Given the description of an element on the screen output the (x, y) to click on. 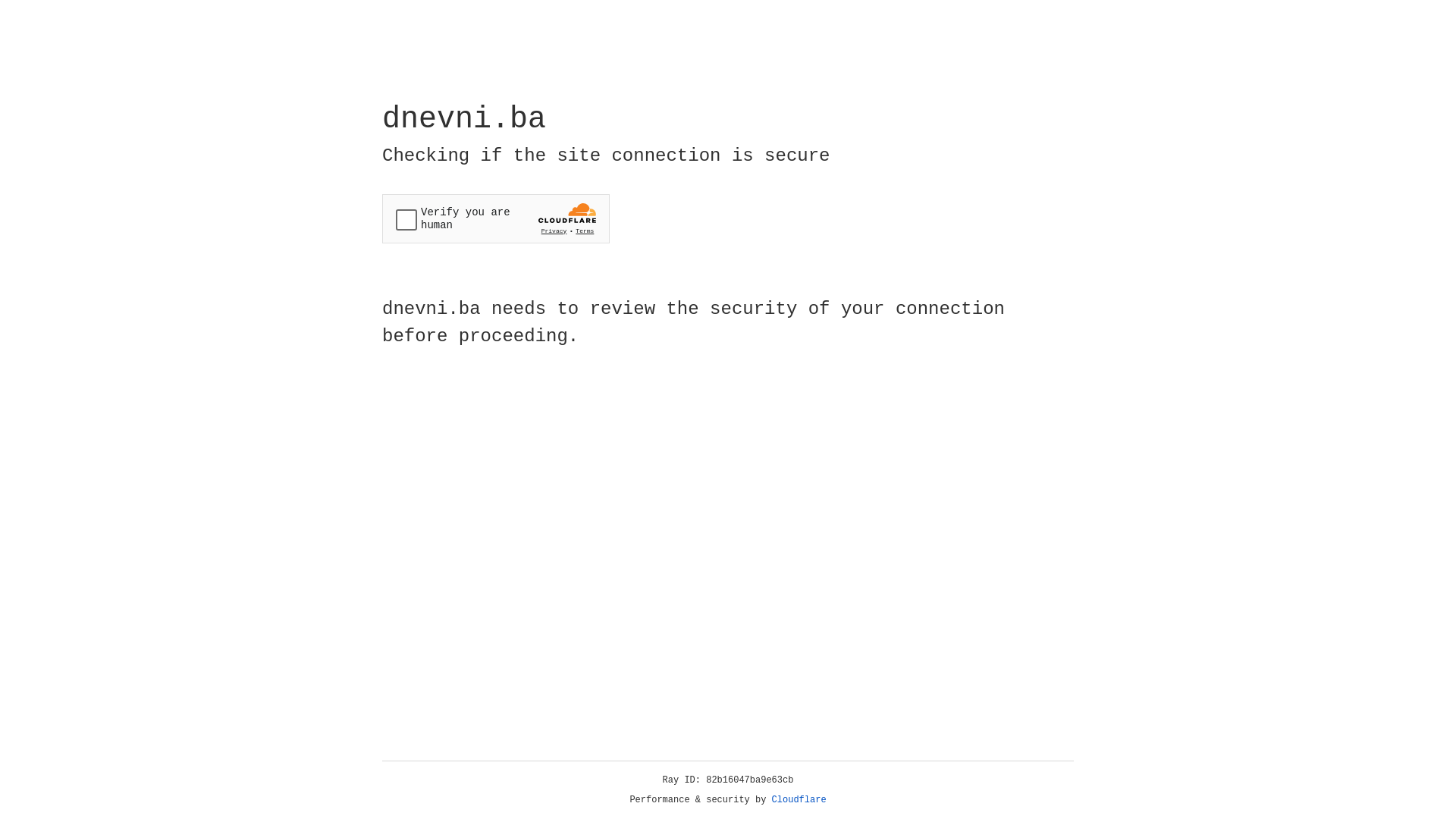
Widget containing a Cloudflare security challenge Element type: hover (495, 218)
Cloudflare Element type: text (798, 799)
